Given the description of an element on the screen output the (x, y) to click on. 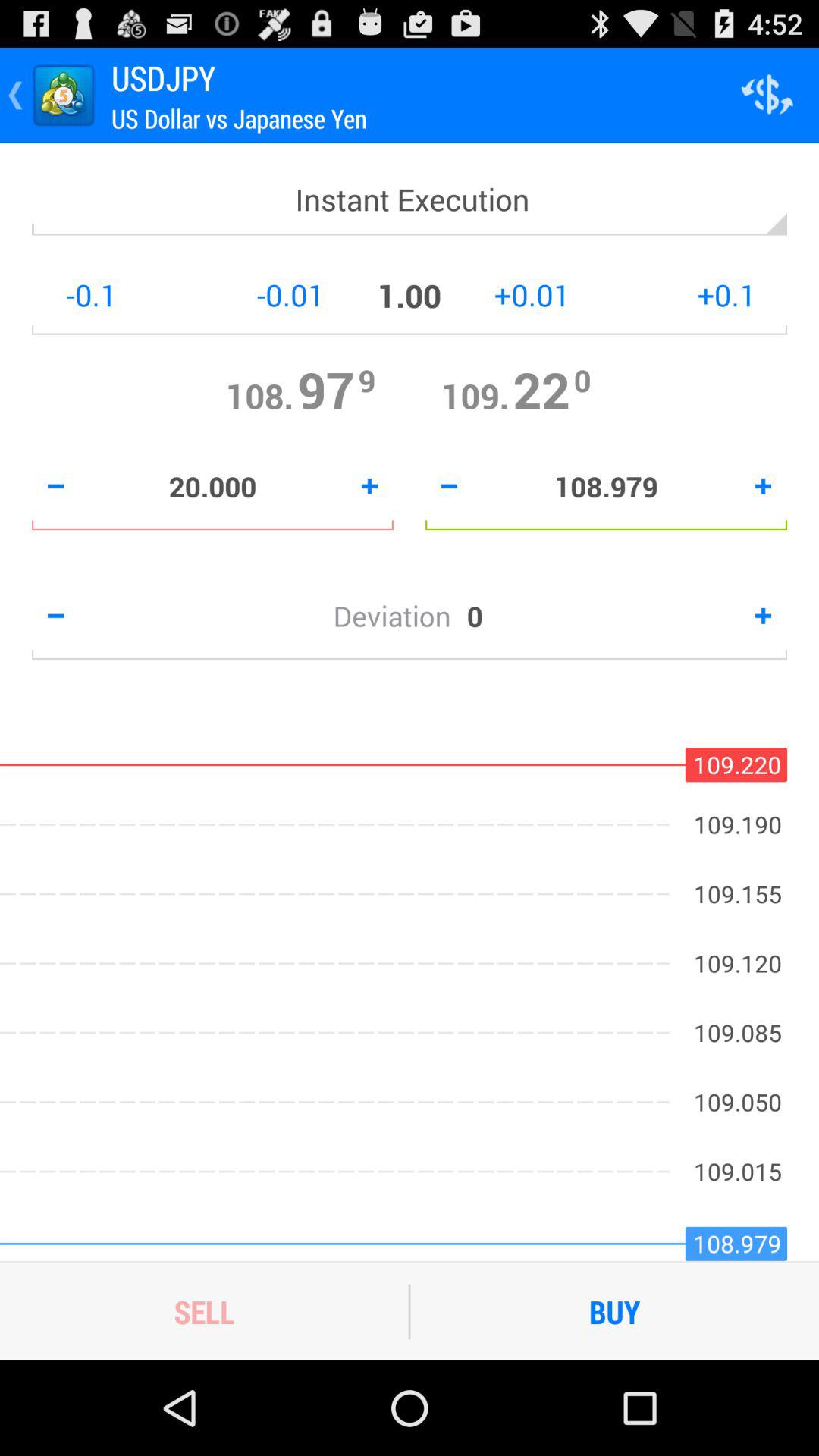
swipe until the buy icon (614, 1311)
